Given the description of an element on the screen output the (x, y) to click on. 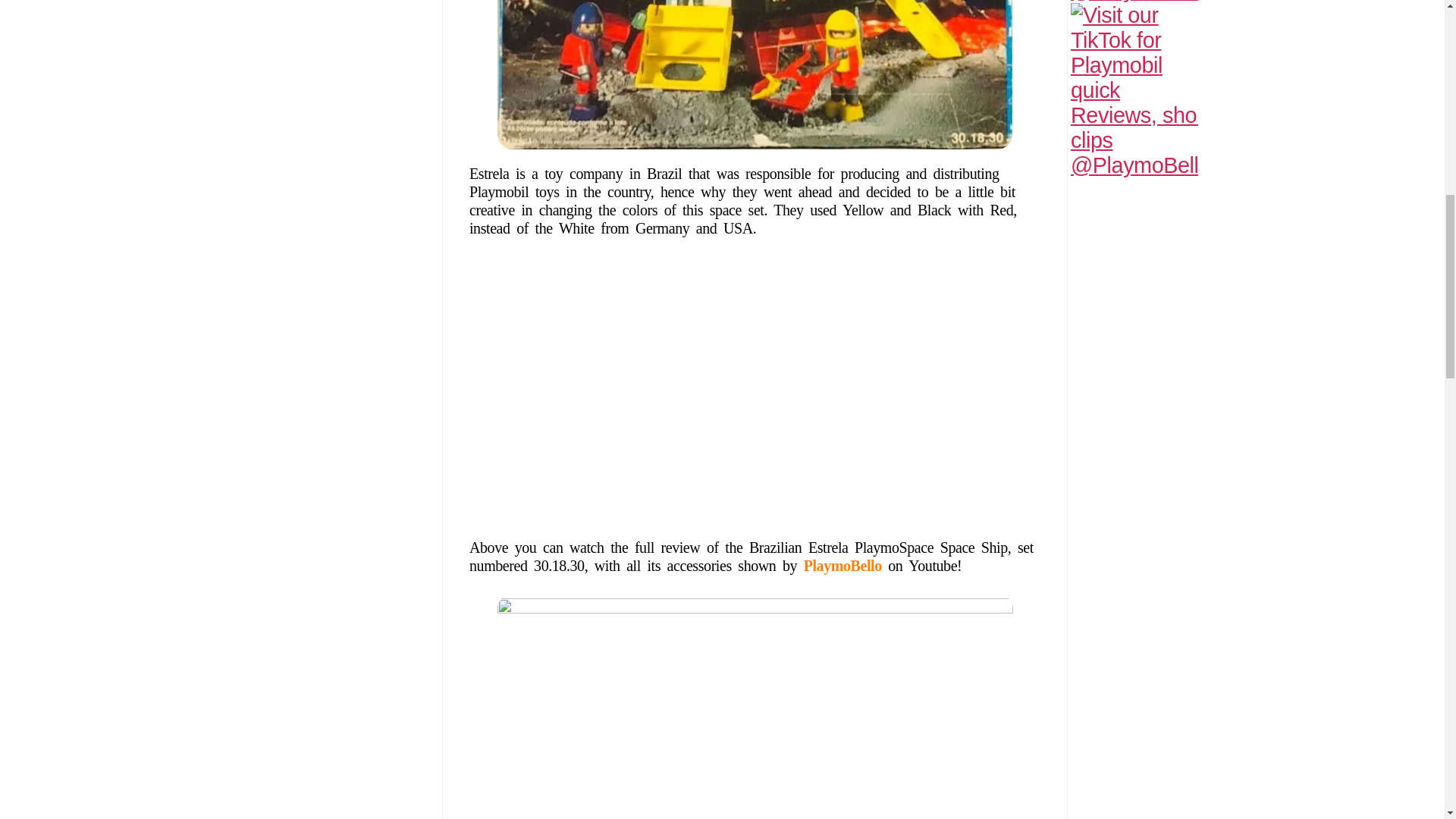
PlaymoBello (842, 565)
